Given the description of an element on the screen output the (x, y) to click on. 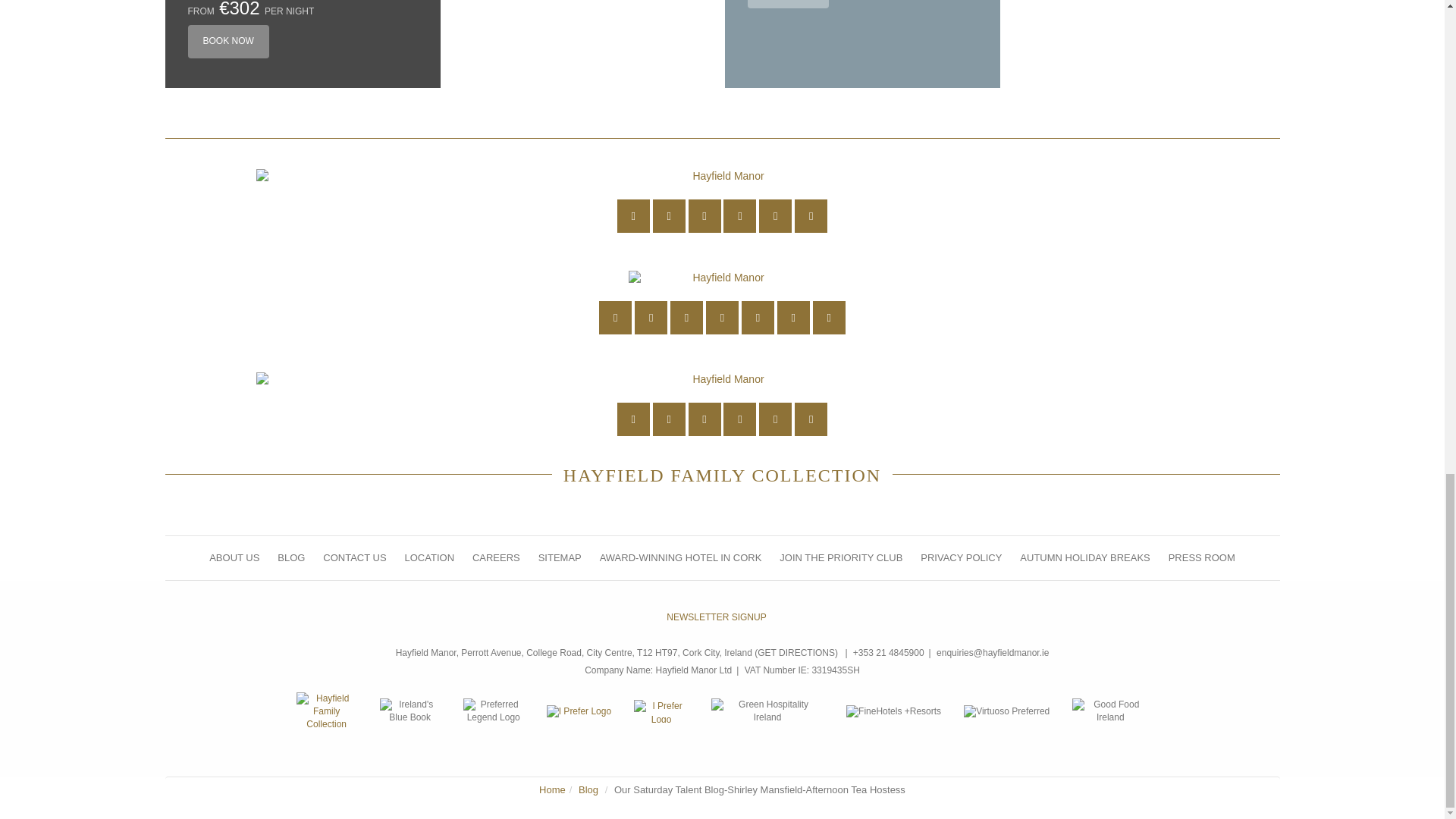
TripAdvisor (828, 317)
Location (614, 317)
YouTube (722, 317)
Facebook (704, 418)
Instagram (739, 215)
TripAdvisor (810, 215)
Instagram (757, 317)
Facebook (686, 317)
Pinterest (775, 215)
Pinterest (775, 418)
